Given the description of an element on the screen output the (x, y) to click on. 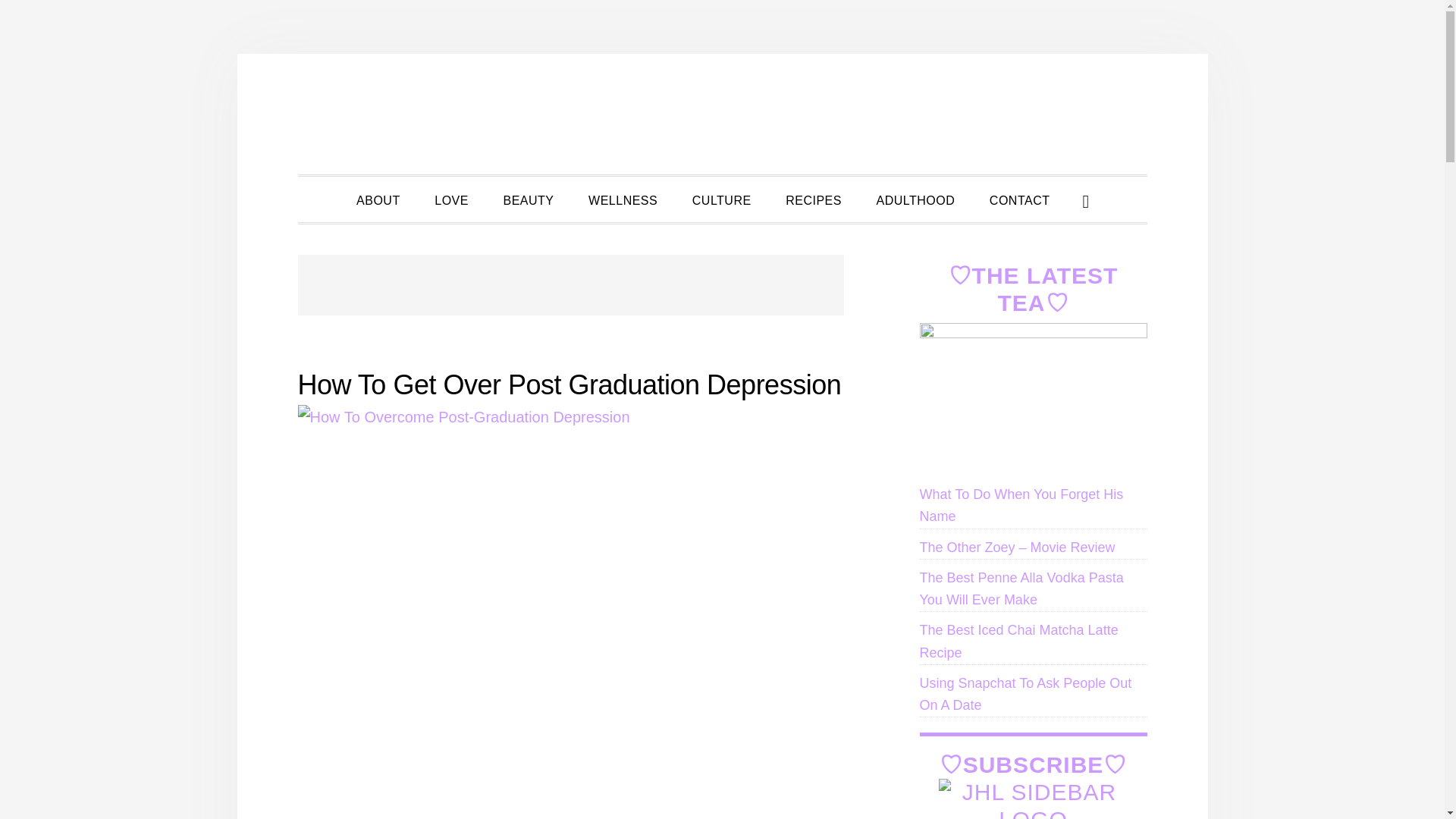
CONTACT (1019, 198)
BEAUTY (528, 198)
RECIPES (813, 198)
CULTURE (722, 198)
LOVE (451, 198)
WELLNESS (622, 198)
ADULTHOOD (916, 198)
JENNA HAITH LIFESTYLE (721, 113)
ABOUT (377, 198)
